Given the description of an element on the screen output the (x, y) to click on. 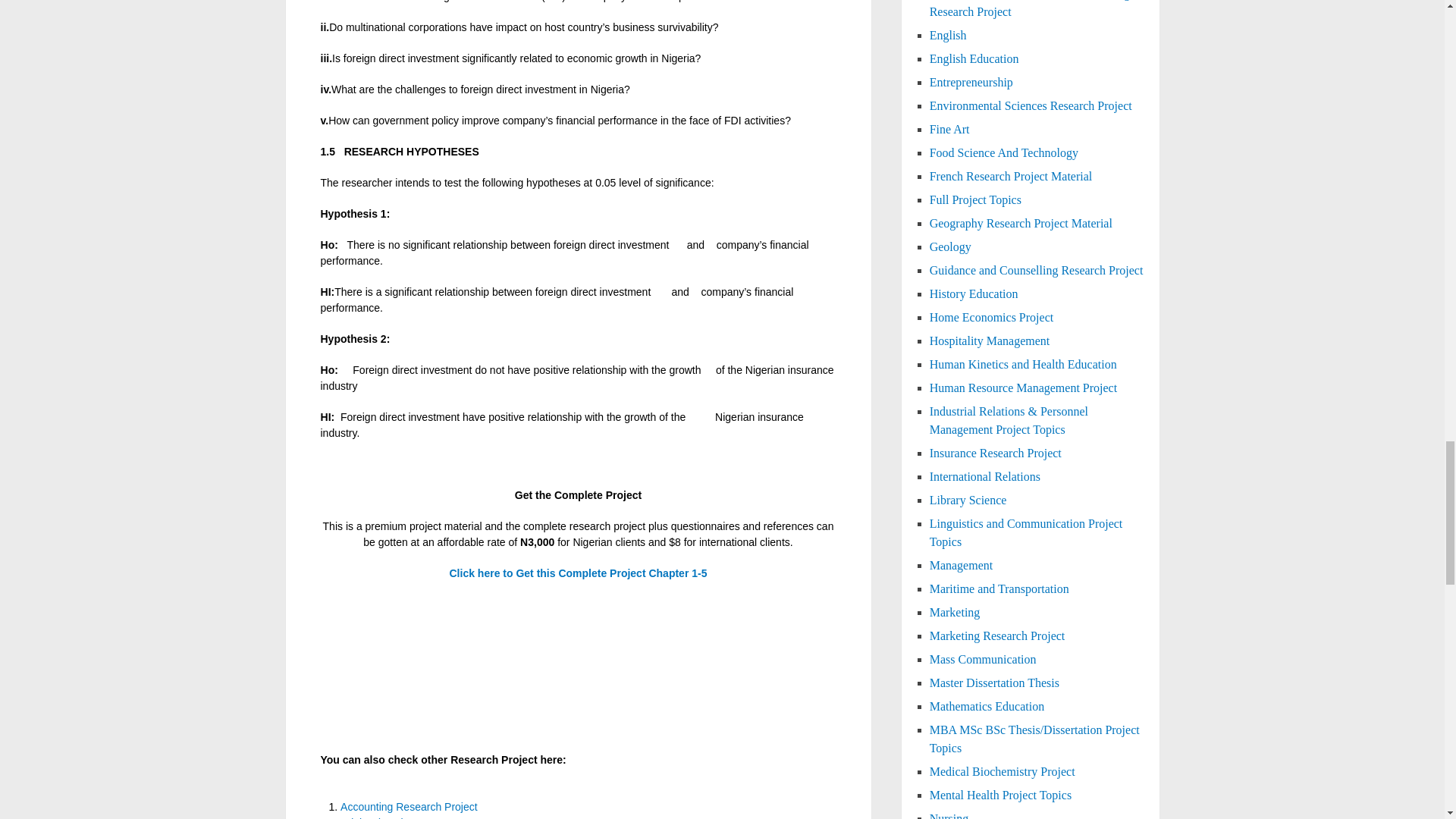
Adult Education (377, 817)
Accounting Research Project (408, 806)
Click here to Get this Complete Project Chapter 1-5 (577, 573)
